Given the description of an element on the screen output the (x, y) to click on. 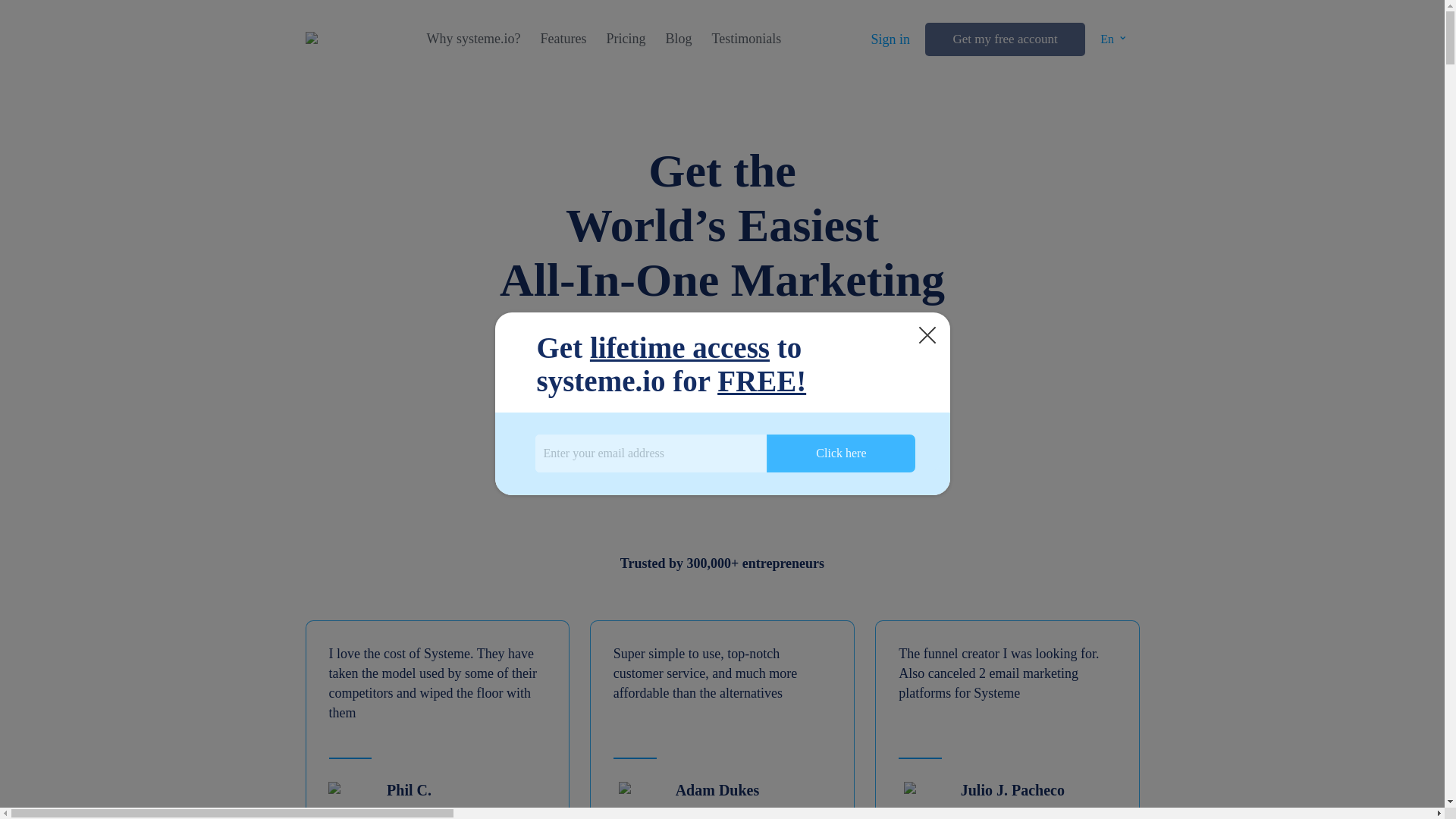
Why systeme.io? (472, 38)
Testimonials (745, 38)
Features (563, 38)
Blog (678, 38)
Get my free account (1004, 39)
Sign in (890, 39)
Pricing (625, 38)
